Given the description of an element on the screen output the (x, y) to click on. 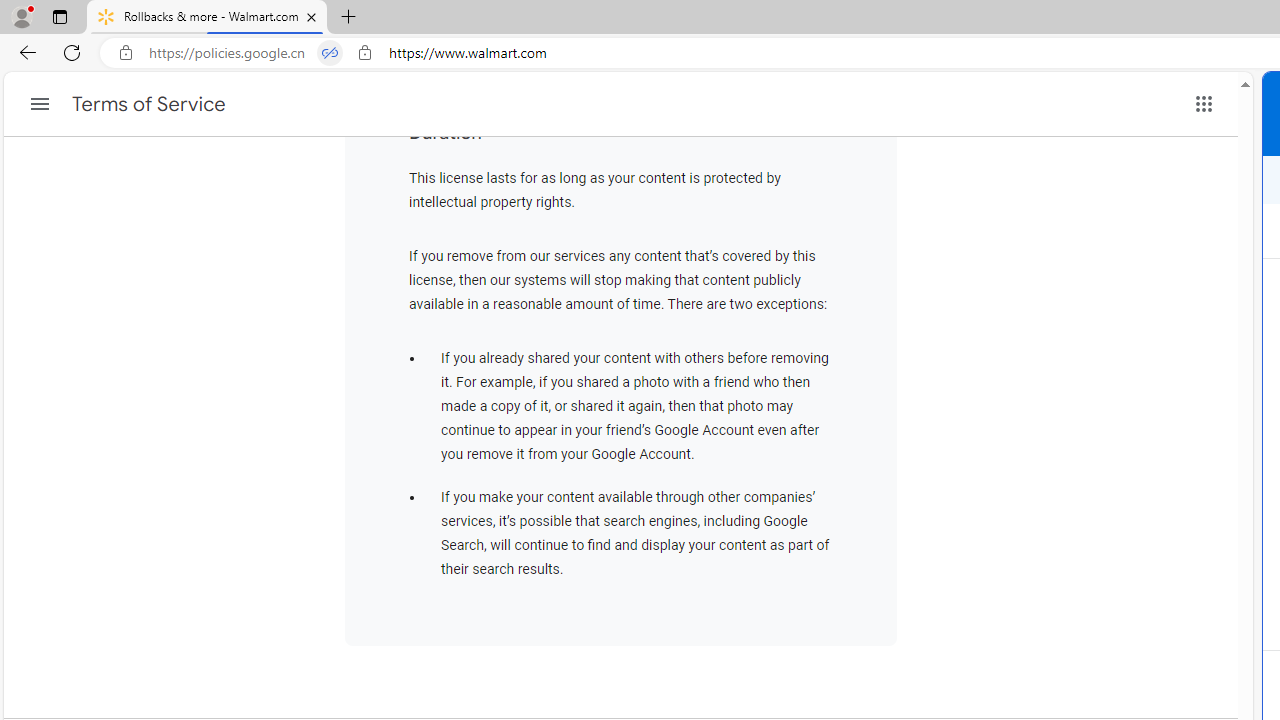
Rollbacks & more - Walmart.com (207, 17)
Tabs in split screen (330, 53)
